Given the description of an element on the screen output the (x, y) to click on. 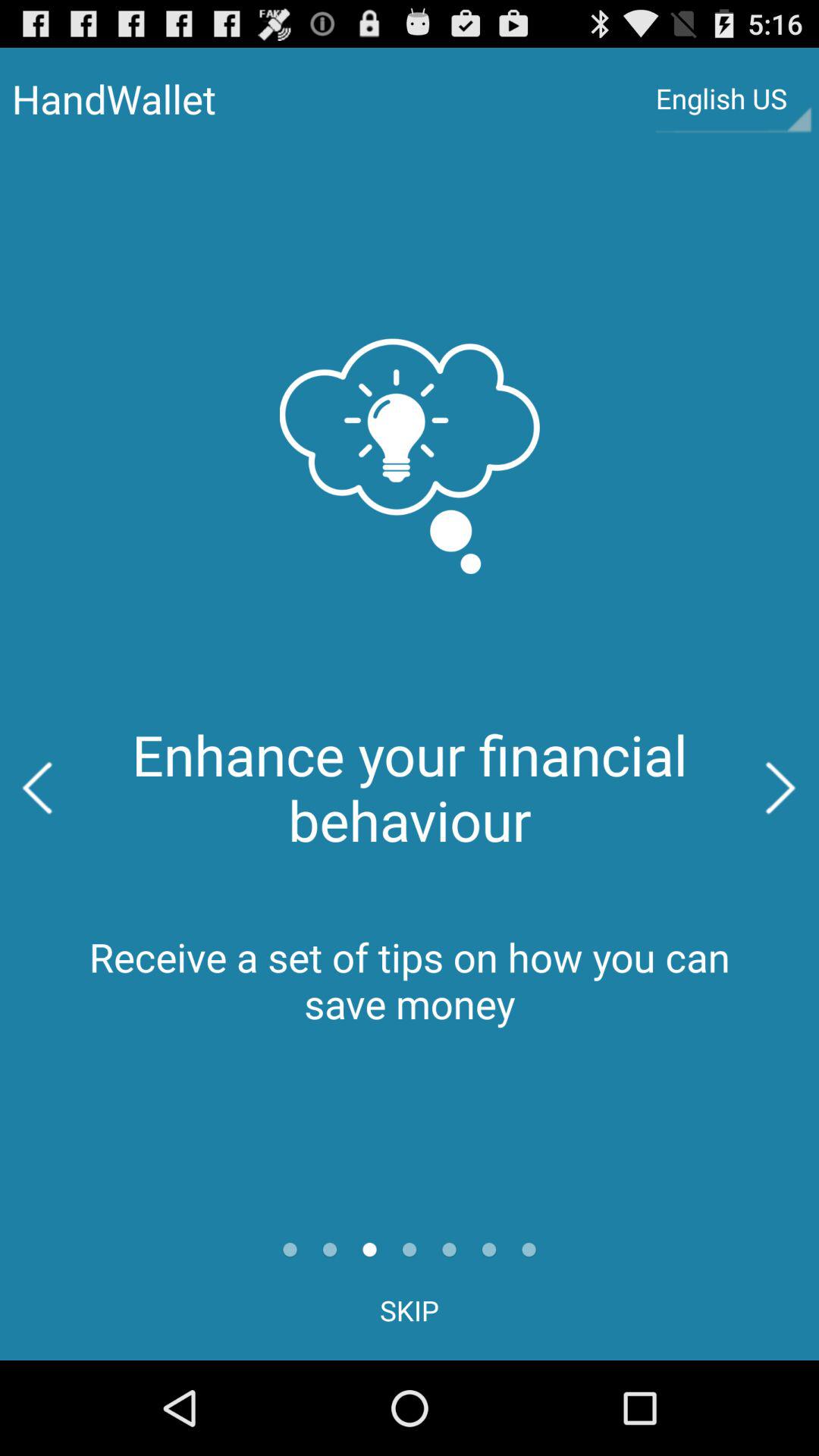
choose english us item (733, 98)
